Given the description of an element on the screen output the (x, y) to click on. 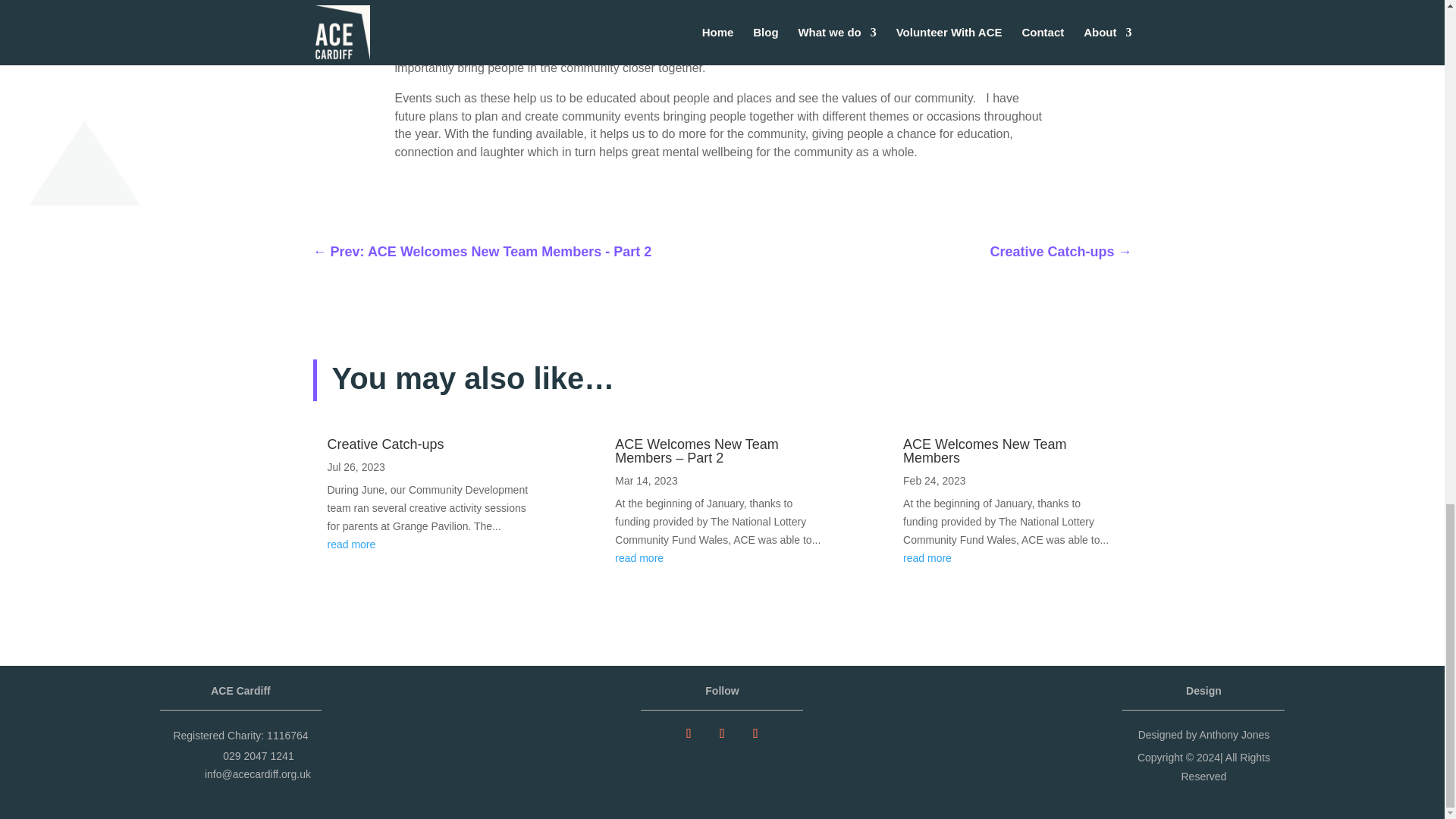
read more (927, 558)
Follow on Facebook (688, 732)
read more (351, 544)
Follow on LinkedIn (754, 732)
Creative Catch-ups (385, 444)
read more (638, 558)
ACE Welcomes New Team Members (983, 451)
Follow on Twitter (721, 732)
